Given the description of an element on the screen output the (x, y) to click on. 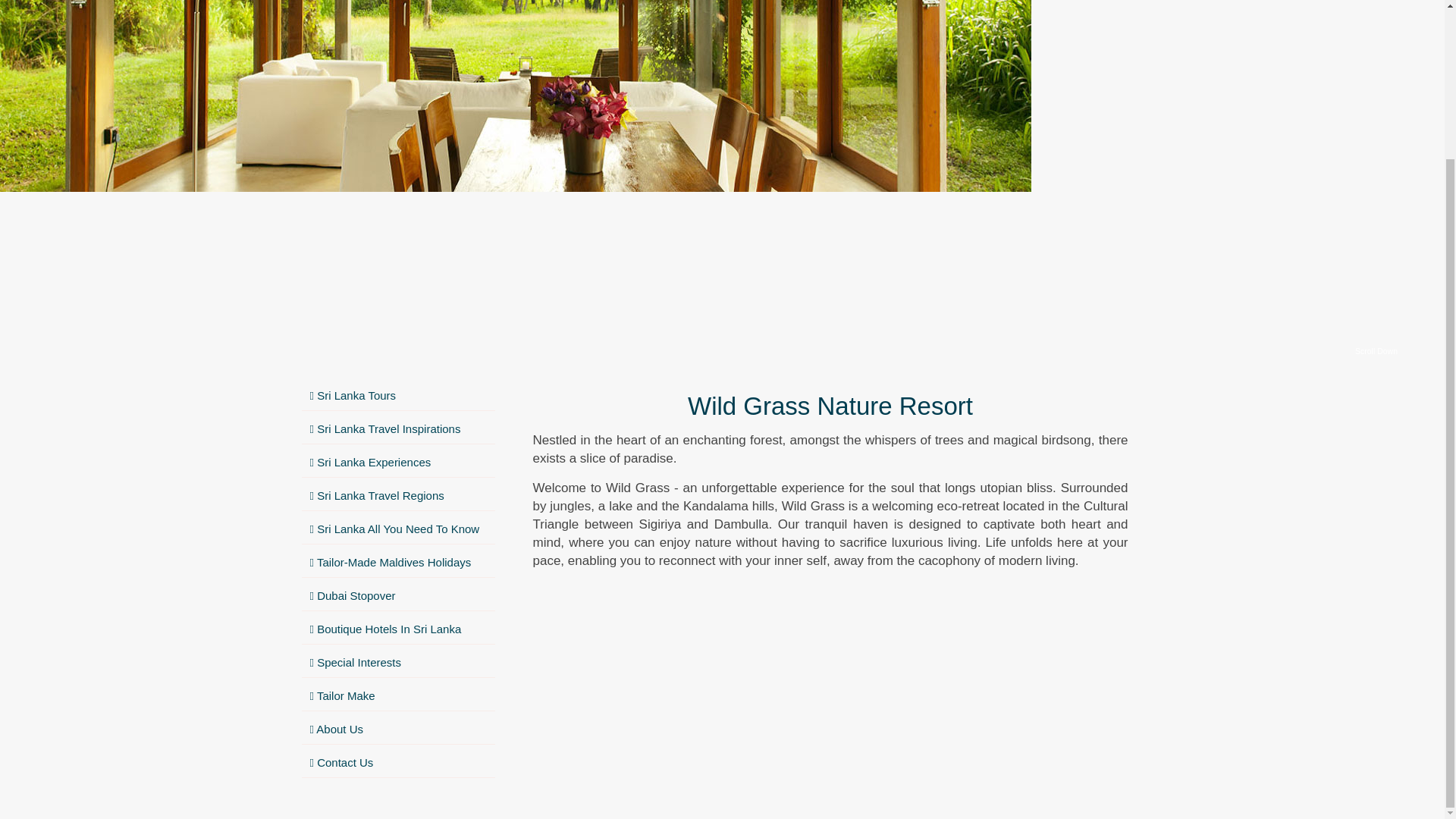
Tailor-Made Maldives Holidays (398, 562)
Tailor Make (398, 696)
Sri Lanka Tours (398, 396)
Boutique Hotels In Sri Lanka (398, 629)
About Us (398, 729)
Dubai Stopover (398, 595)
Special Interests (398, 663)
Sri Lanka Travel Regions (398, 496)
Sri Lanka Experiences (398, 462)
Sri Lanka All You Need To Know (398, 529)
